Given the description of an element on the screen output the (x, y) to click on. 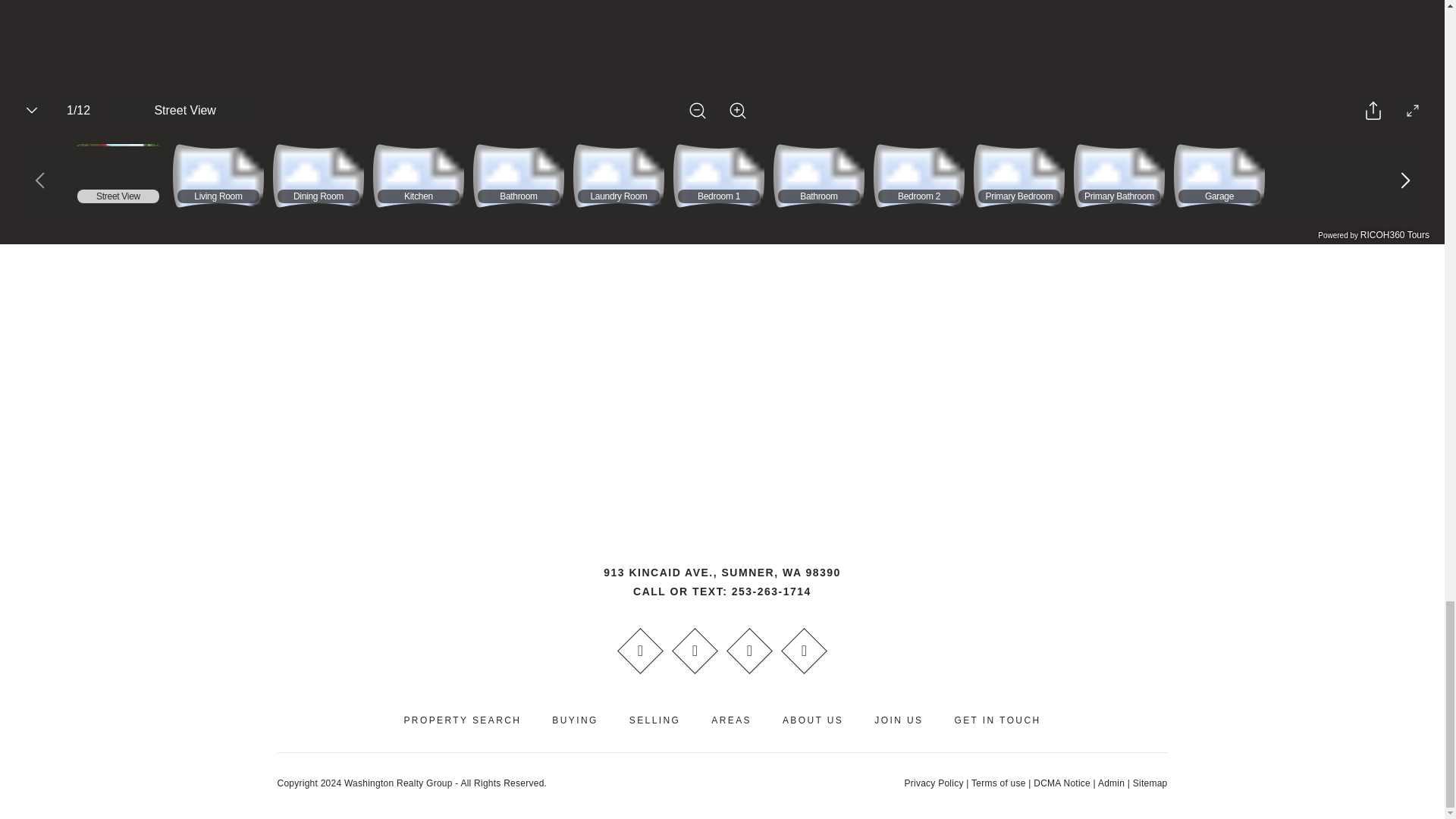
Follow Washington Realty Group on Youtube (694, 650)
Follow Washington Realty Group on Twitter (748, 650)
Follow Washington Realty Group on Instagram (803, 650)
Follow Washington Realty Group on Facebook (639, 650)
